Given the description of an element on the screen output the (x, y) to click on. 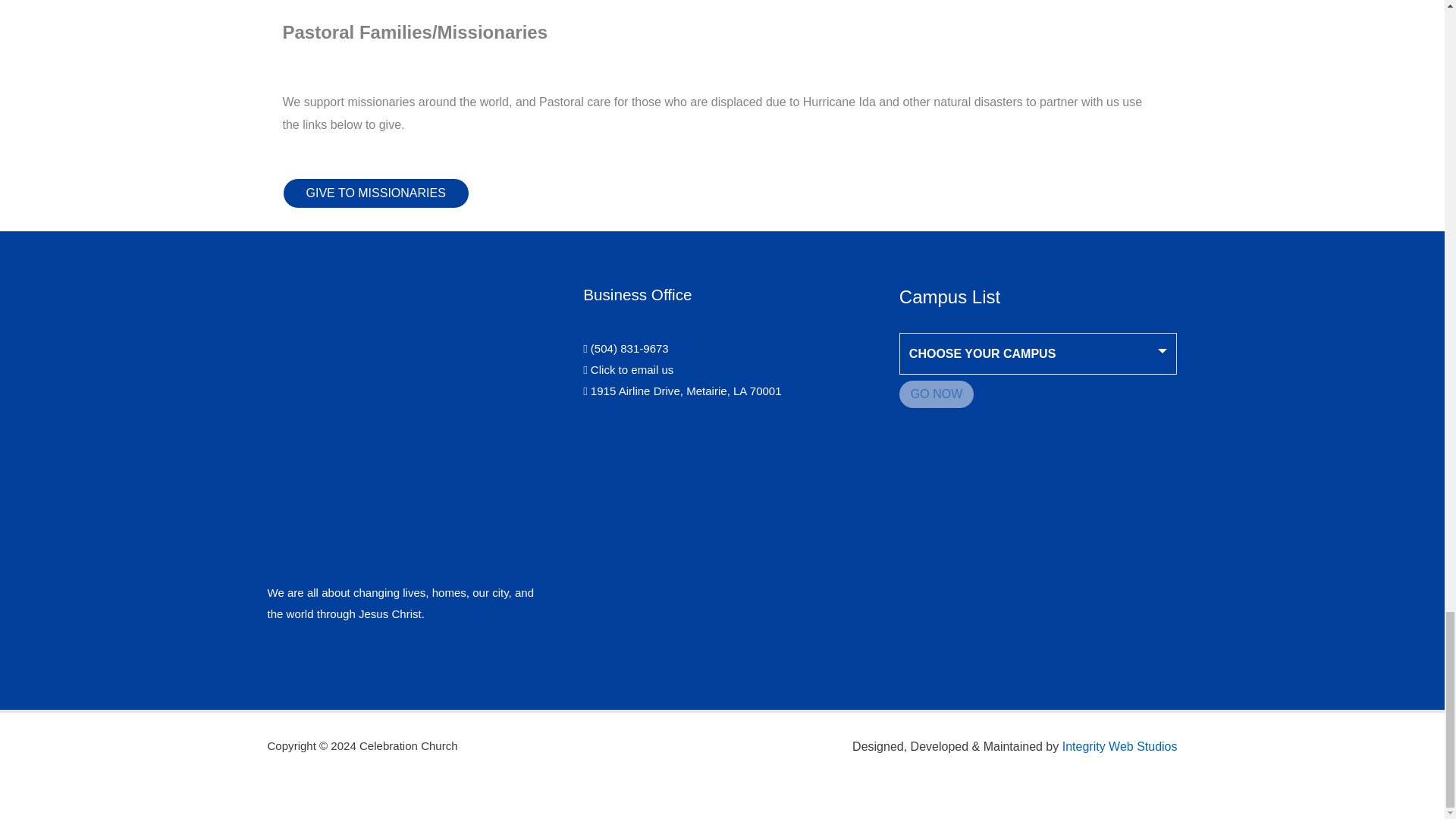
Click here to call (625, 348)
Click here for directions (681, 390)
GIVE TO MISSIONARIES (375, 193)
